Given the description of an element on the screen output the (x, y) to click on. 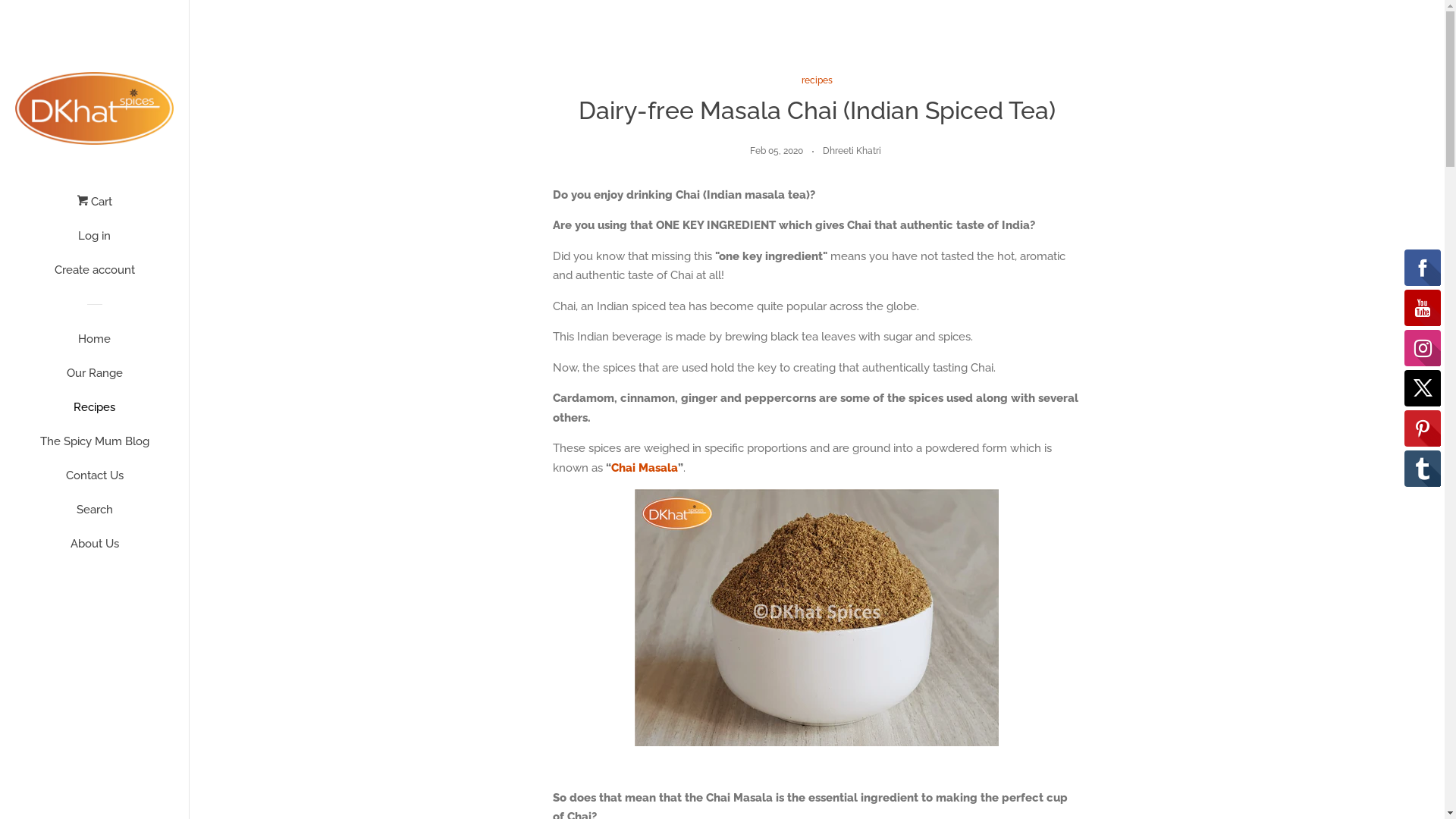
Cart Element type: text (94, 207)
Create account Element type: text (93, 275)
Search Element type: text (93, 515)
Recipes Element type: text (93, 412)
About Us Element type: text (93, 549)
recipes Element type: text (816, 80)
Log in Element type: text (93, 241)
Home Element type: text (93, 344)
Our Range Element type: text (93, 378)
The Spicy Mum Blog Element type: text (93, 446)
Chai Masala Element type: text (644, 467)
Contact Us Element type: text (93, 481)
